Given the description of an element on the screen output the (x, y) to click on. 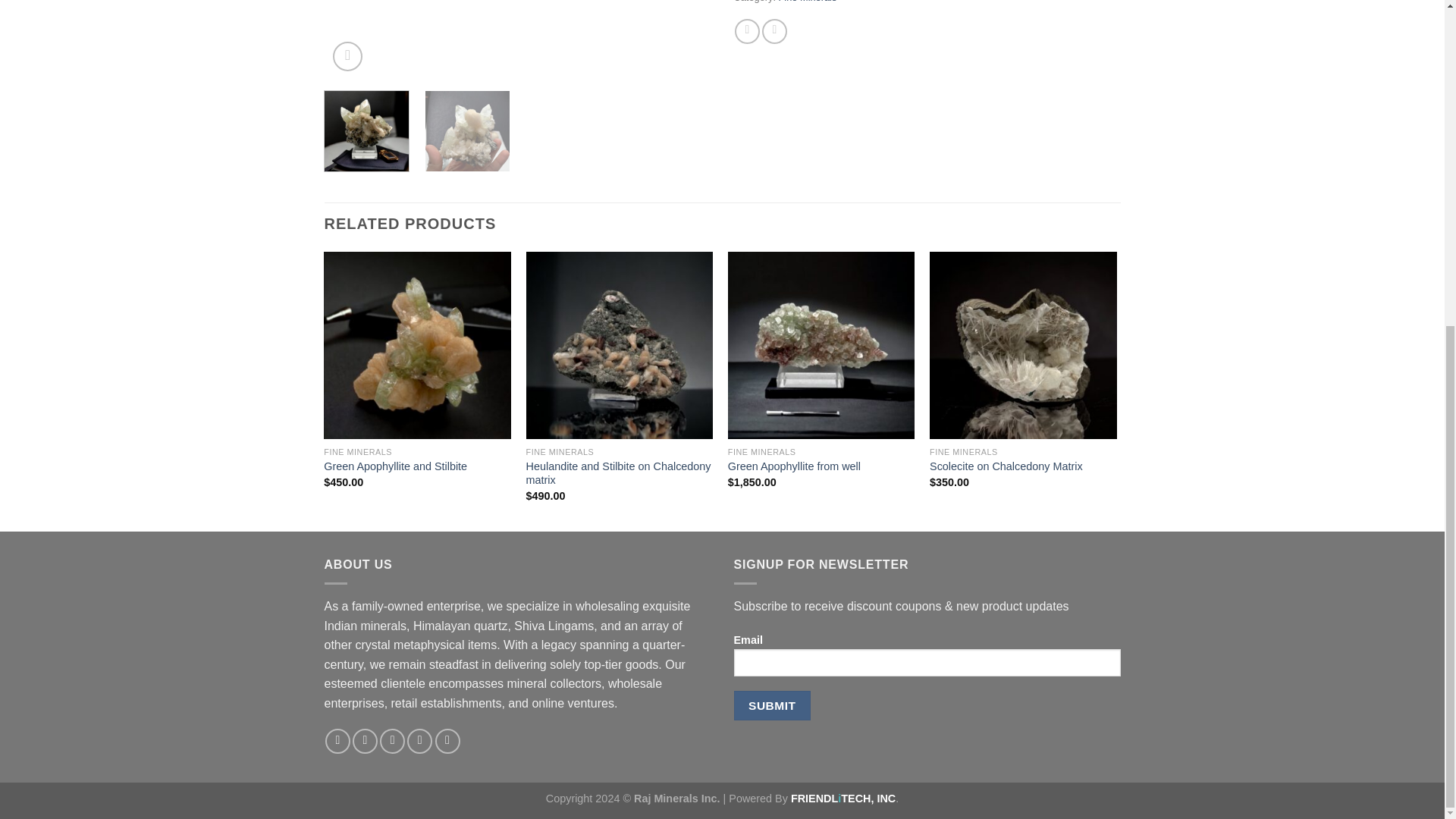
Email to a Friend (774, 31)
Submit (771, 705)
Follow on Facebook (337, 740)
Share on Facebook (747, 31)
Zoom (347, 56)
Follow on Instagram (364, 740)
Fine Minerals (807, 1)
